Given the description of an element on the screen output the (x, y) to click on. 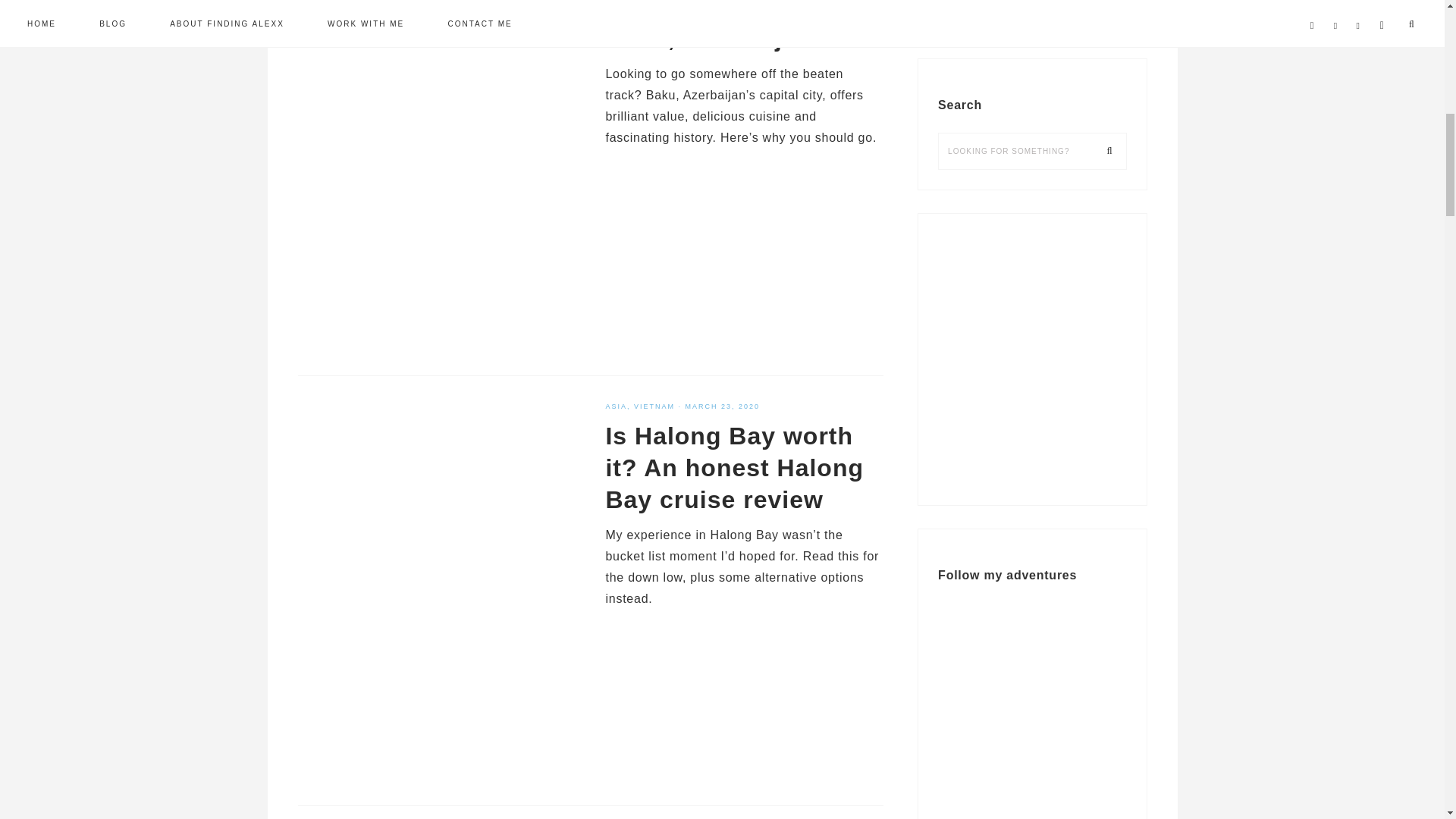
Test (1031, 355)
